Given the description of an element on the screen output the (x, y) to click on. 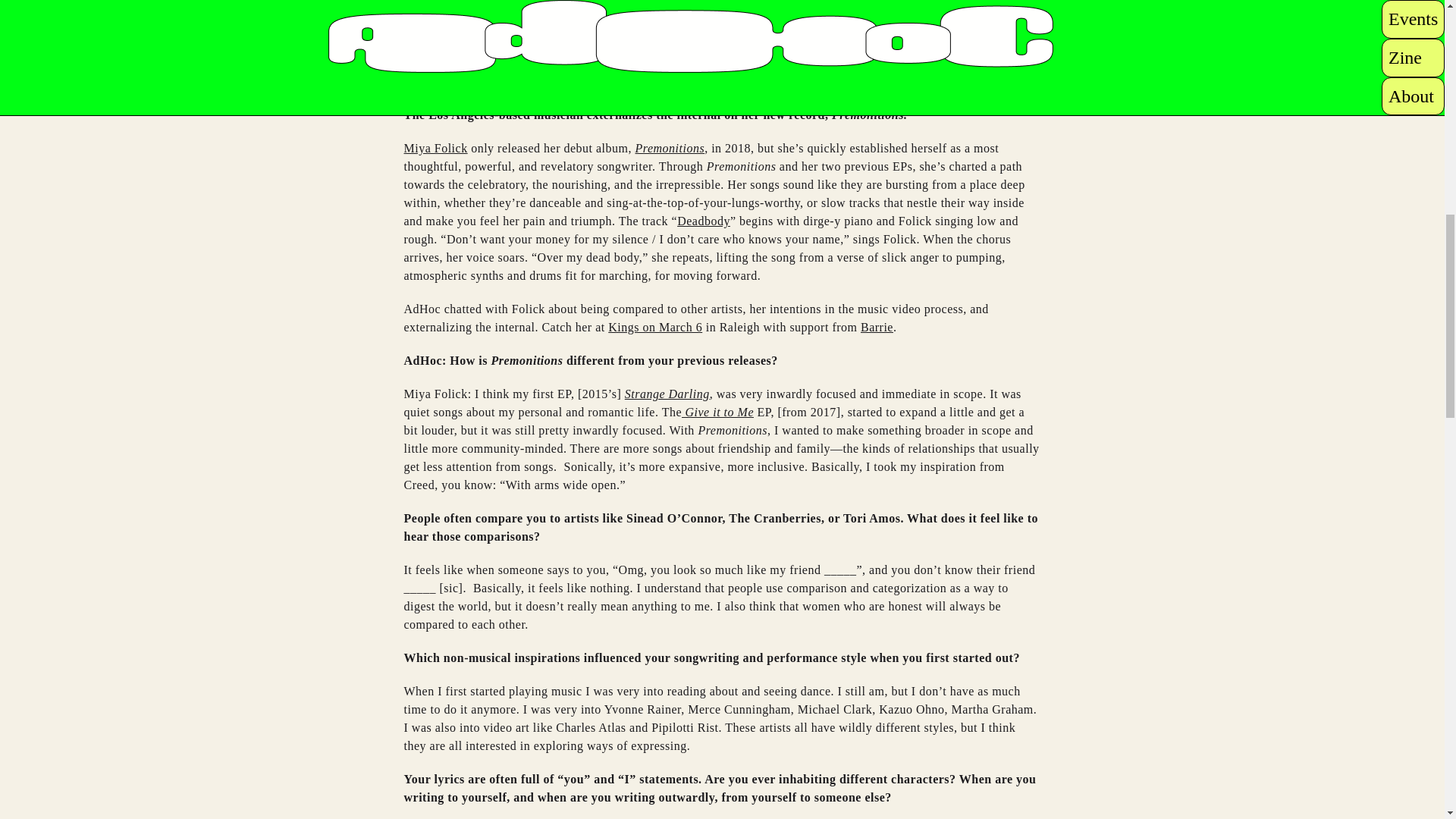
Kings on March 6 (654, 327)
Miya Folick (435, 147)
AdHoc Staff (468, 55)
Barrie (876, 327)
Deadbody (703, 220)
Premonitions (669, 147)
Give it to Me (717, 411)
Strange Darling (667, 393)
